Given the description of an element on the screen output the (x, y) to click on. 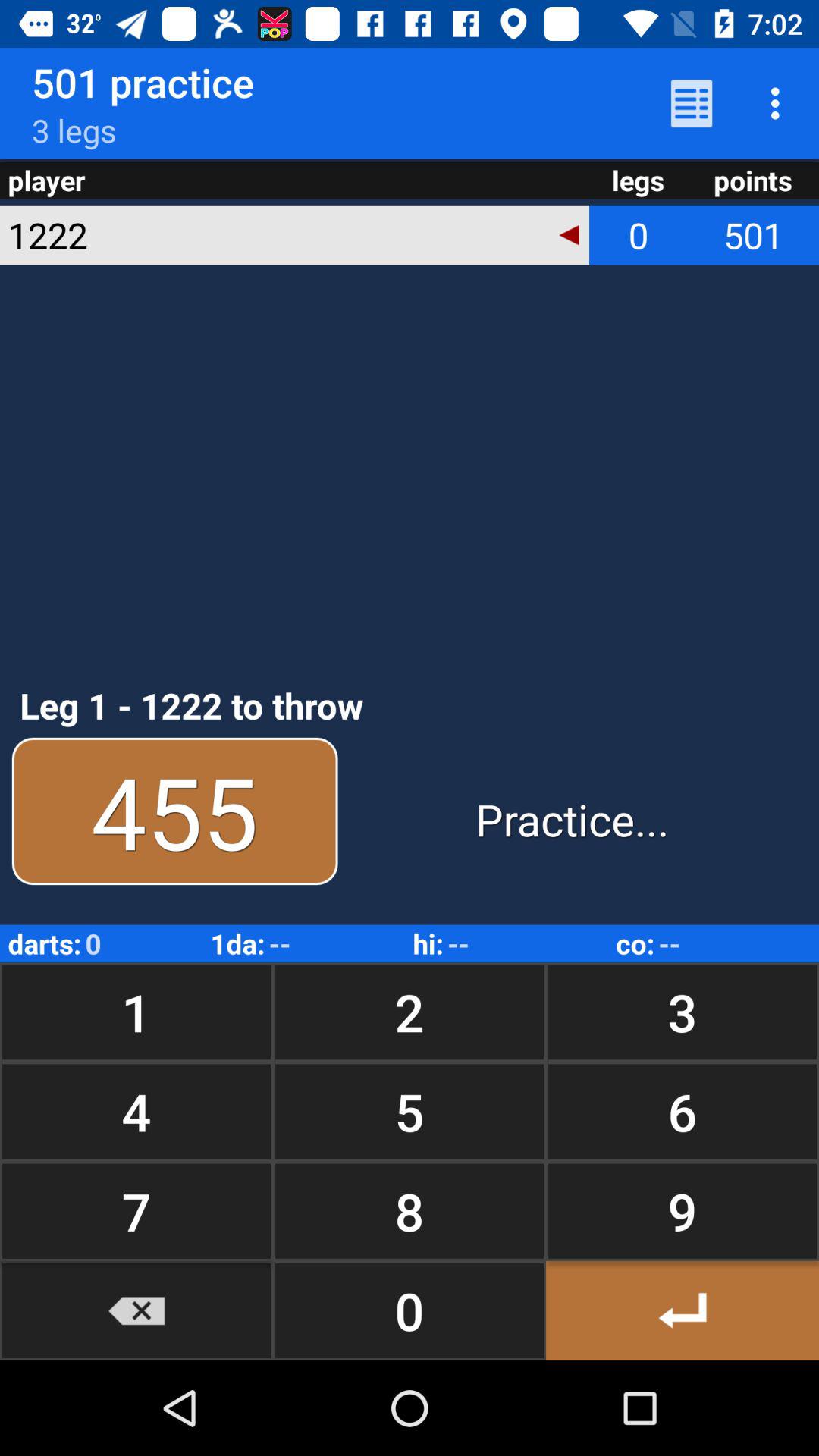
enter button (682, 1310)
